Given the description of an element on the screen output the (x, y) to click on. 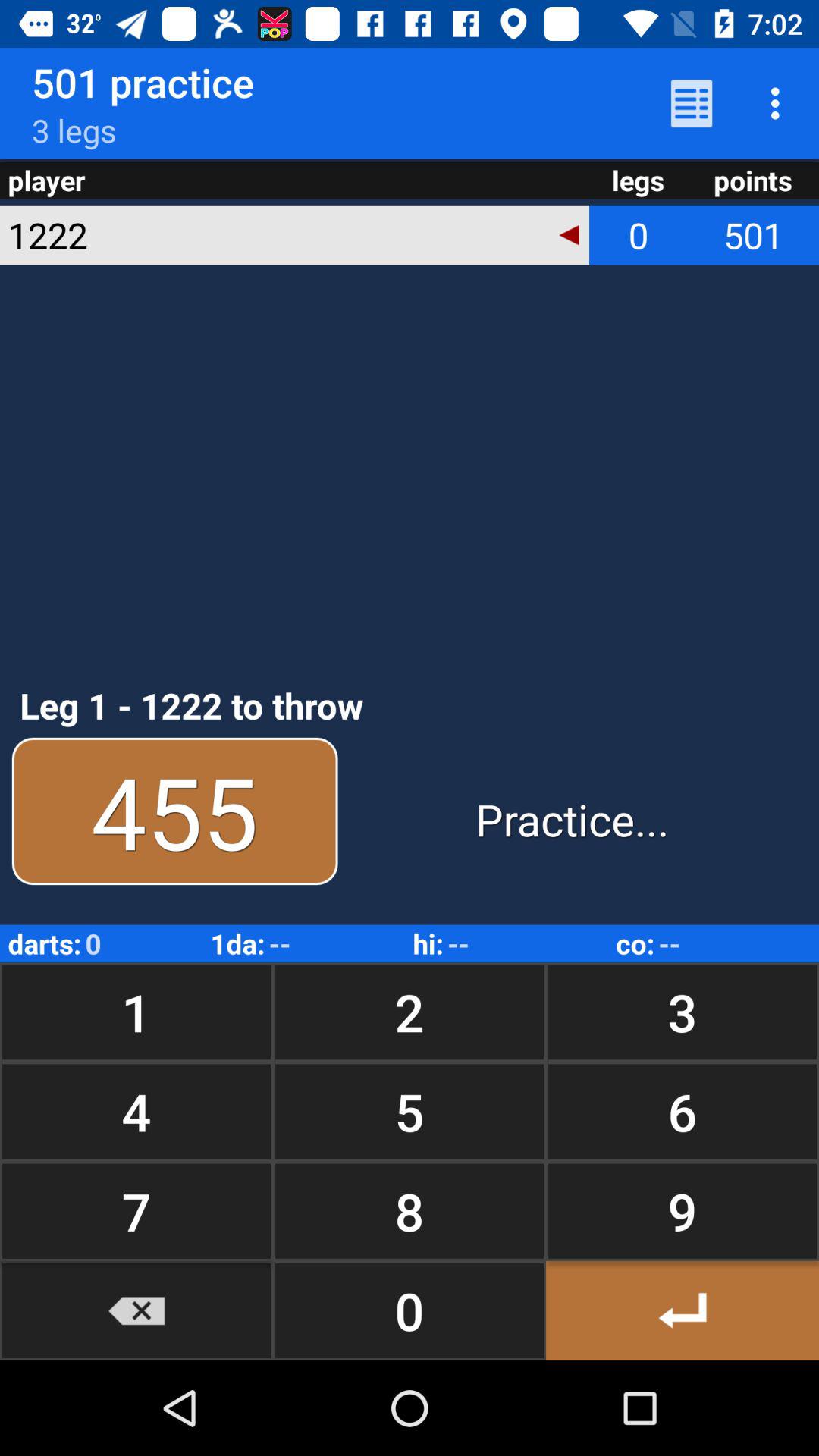
enter button (682, 1310)
